Given the description of an element on the screen output the (x, y) to click on. 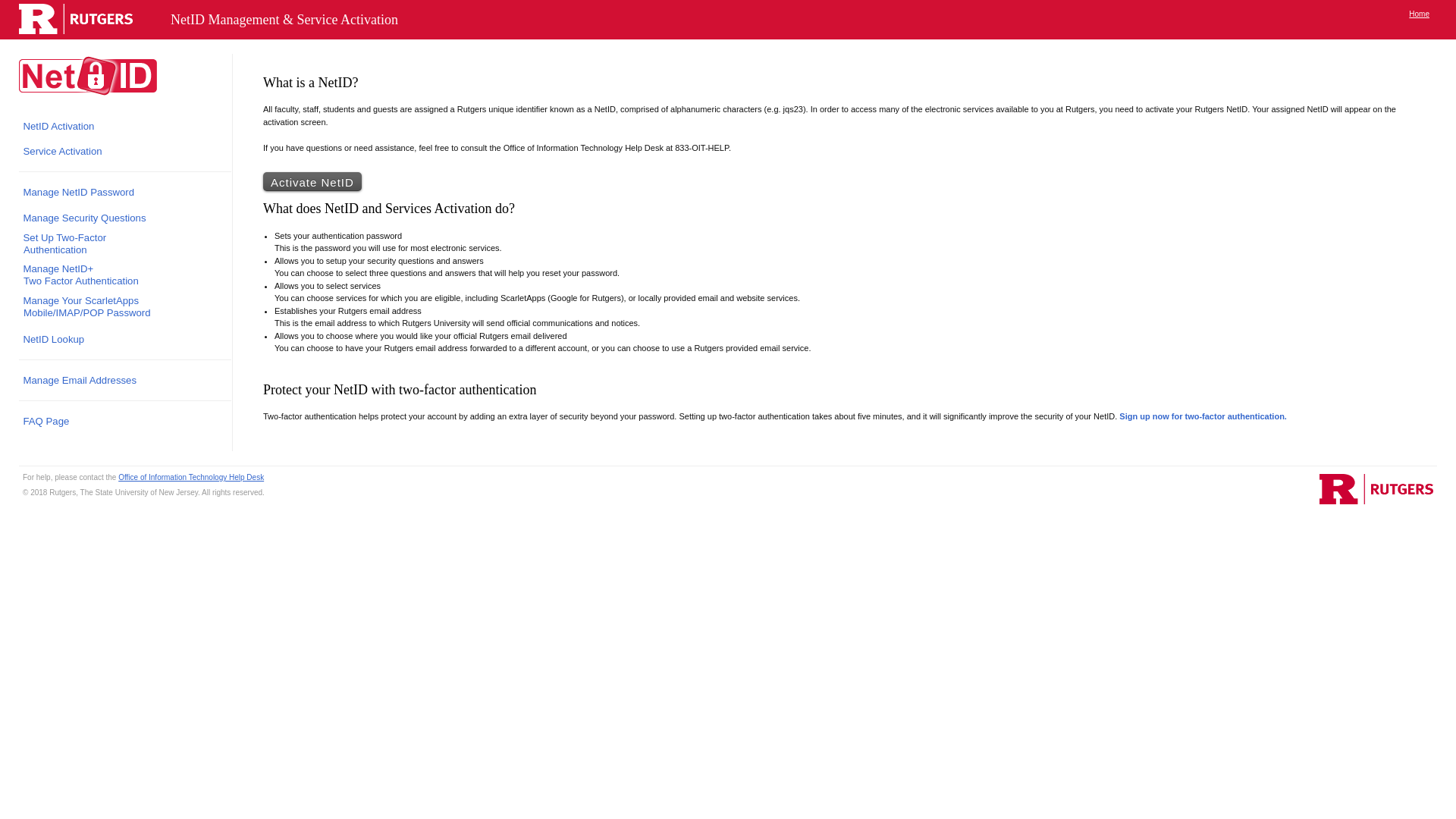
Manage Email Addresses (77, 380)
home page (1418, 14)
NetID Activation (56, 125)
FAQ Page (43, 421)
Activate NetID (312, 180)
Sign up now for two-factor authentication. (1203, 415)
go to Rutgers University home page (1375, 489)
Manage NetID Password (75, 191)
Manage Security Questions (62, 243)
Office of Information Technology Help Desk (82, 218)
Service Activation (190, 477)
Home (59, 150)
NetID Lookup (1418, 14)
